Given the description of an element on the screen output the (x, y) to click on. 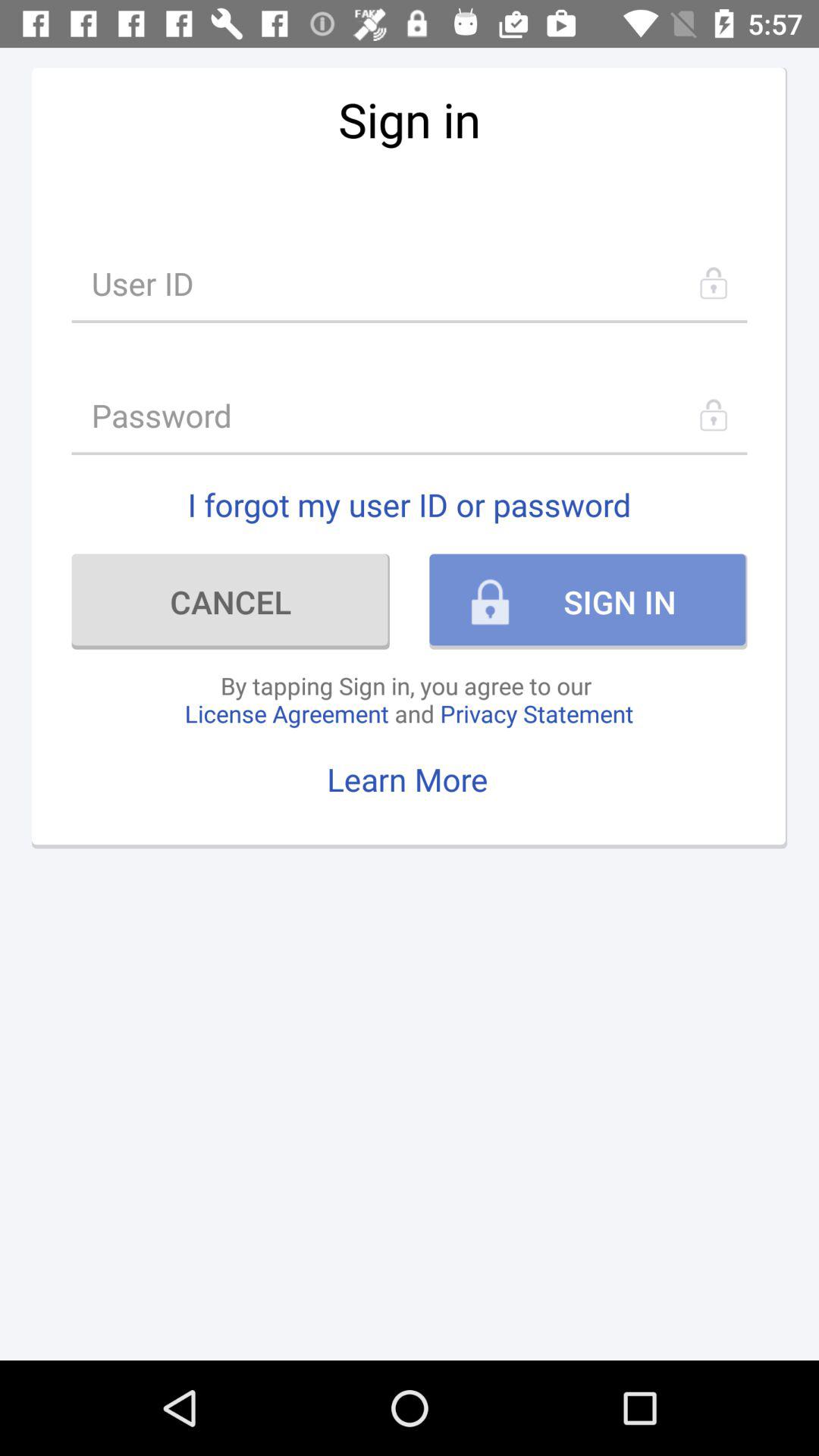
select icon above i forgot my (409, 415)
